Given the description of an element on the screen output the (x, y) to click on. 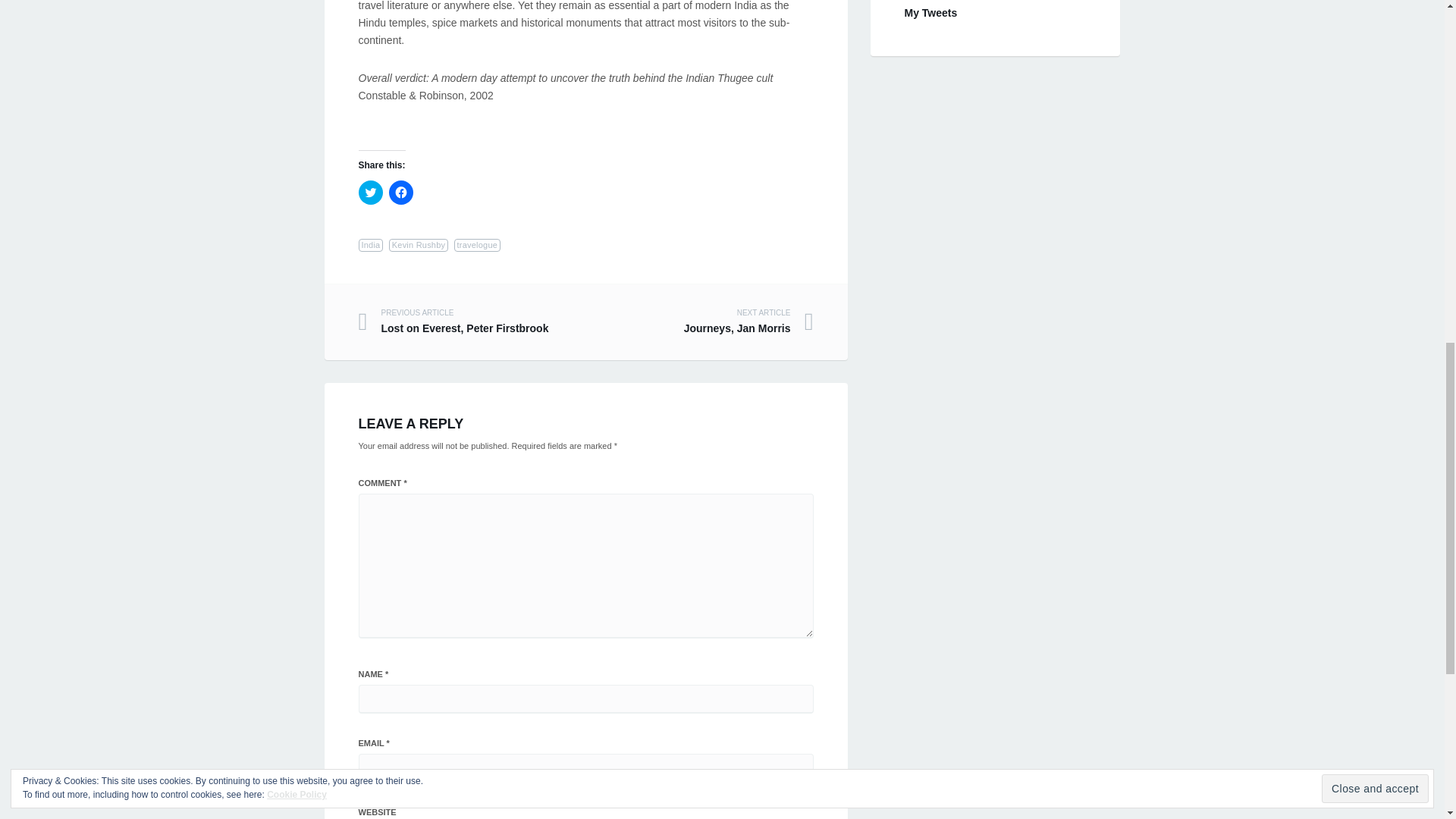
Click to share on Twitter (369, 192)
India (370, 245)
Click to share on Facebook (400, 192)
My Tweets (930, 12)
travelogue (471, 322)
Kevin Rushby (477, 245)
